Given the description of an element on the screen output the (x, y) to click on. 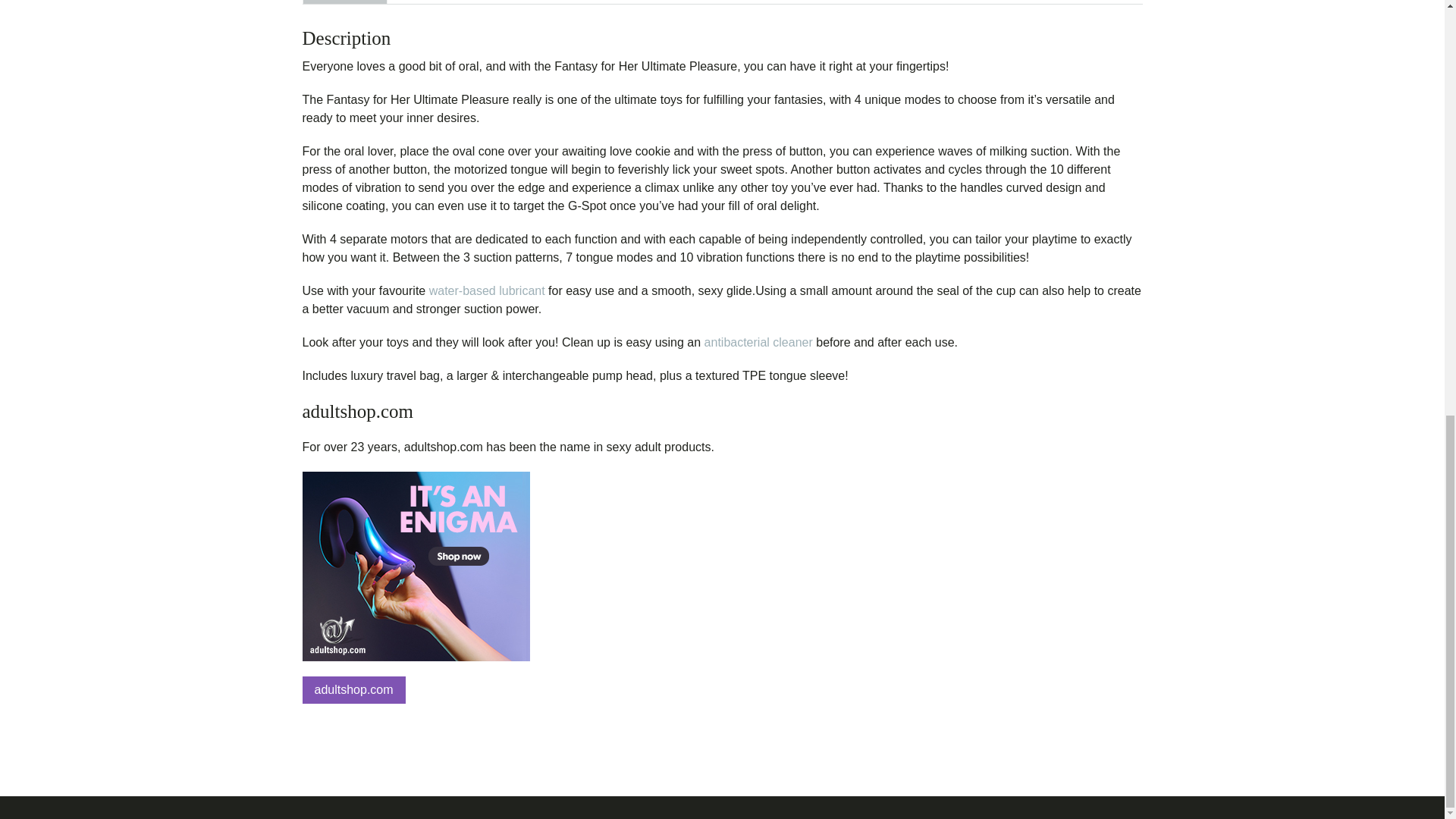
antibacterial cleaner (758, 341)
Description (344, 2)
water-based lubricant (486, 290)
adultshop.com (721, 411)
adultshop.com (352, 689)
